Given the description of an element on the screen output the (x, y) to click on. 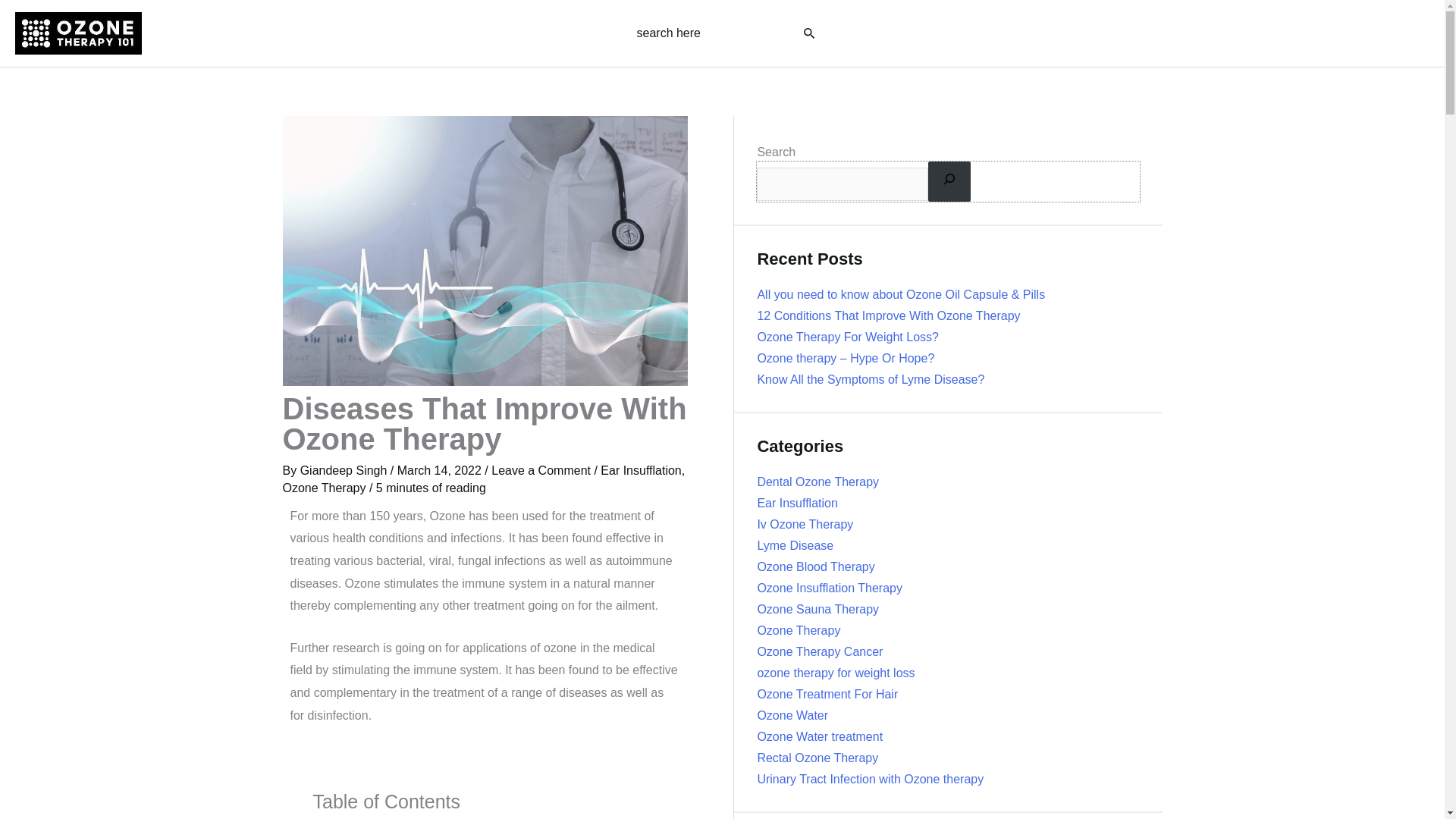
Giandeep Singh (344, 470)
View all posts by Giandeep Singh (344, 470)
CONTACT US (1381, 33)
HOME (1112, 33)
OZONE THERAPY (1208, 33)
BLOG (1304, 33)
